Given the description of an element on the screen output the (x, y) to click on. 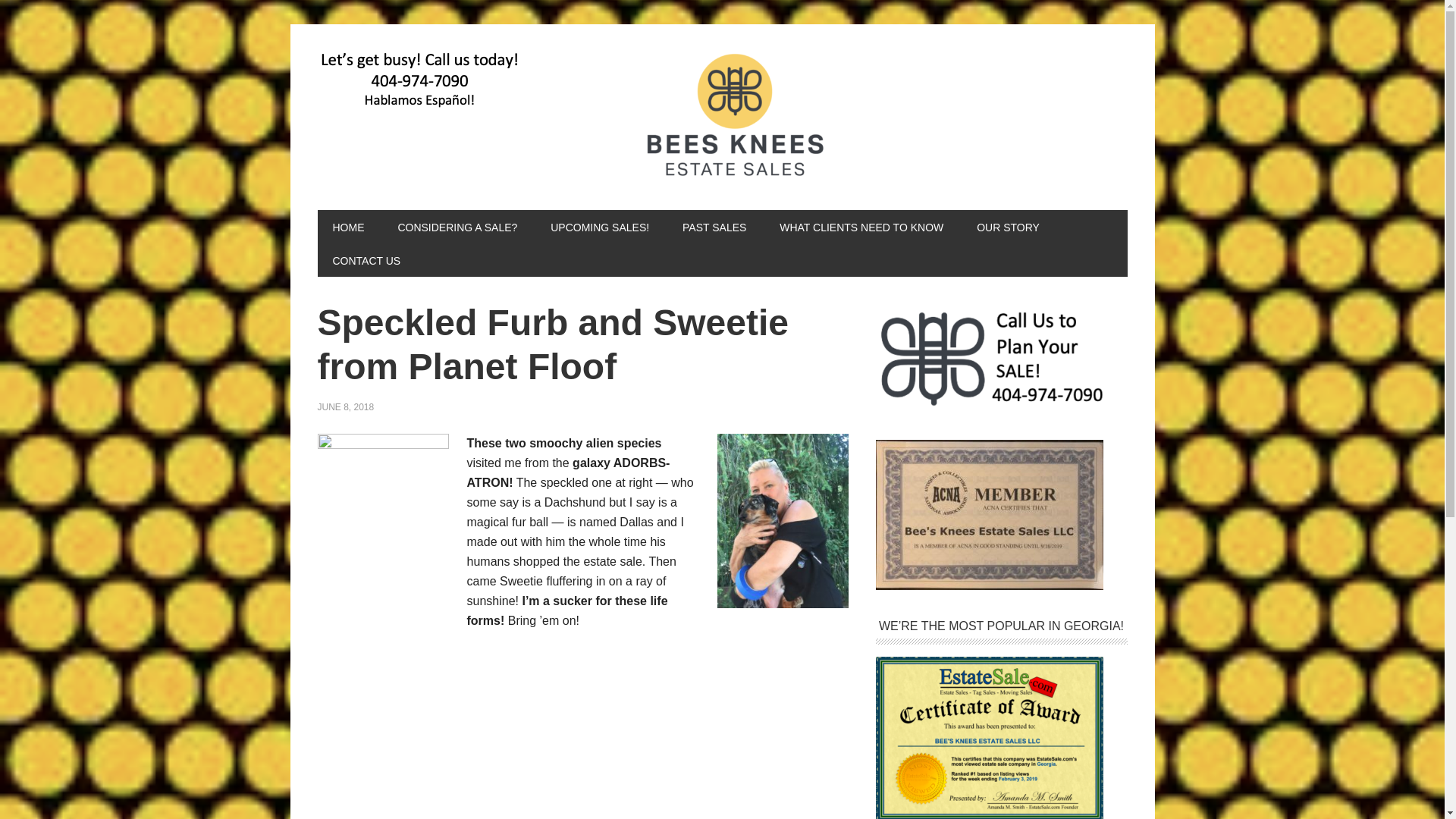
PAST SALES (713, 226)
OUR STORY (1007, 226)
HOME (347, 226)
CONSIDERING A SALE? (456, 226)
WHAT CLIENTS NEED TO KNOW (861, 226)
UPCOMING SALES! (599, 226)
CONTACT US (365, 259)
